Given the description of an element on the screen output the (x, y) to click on. 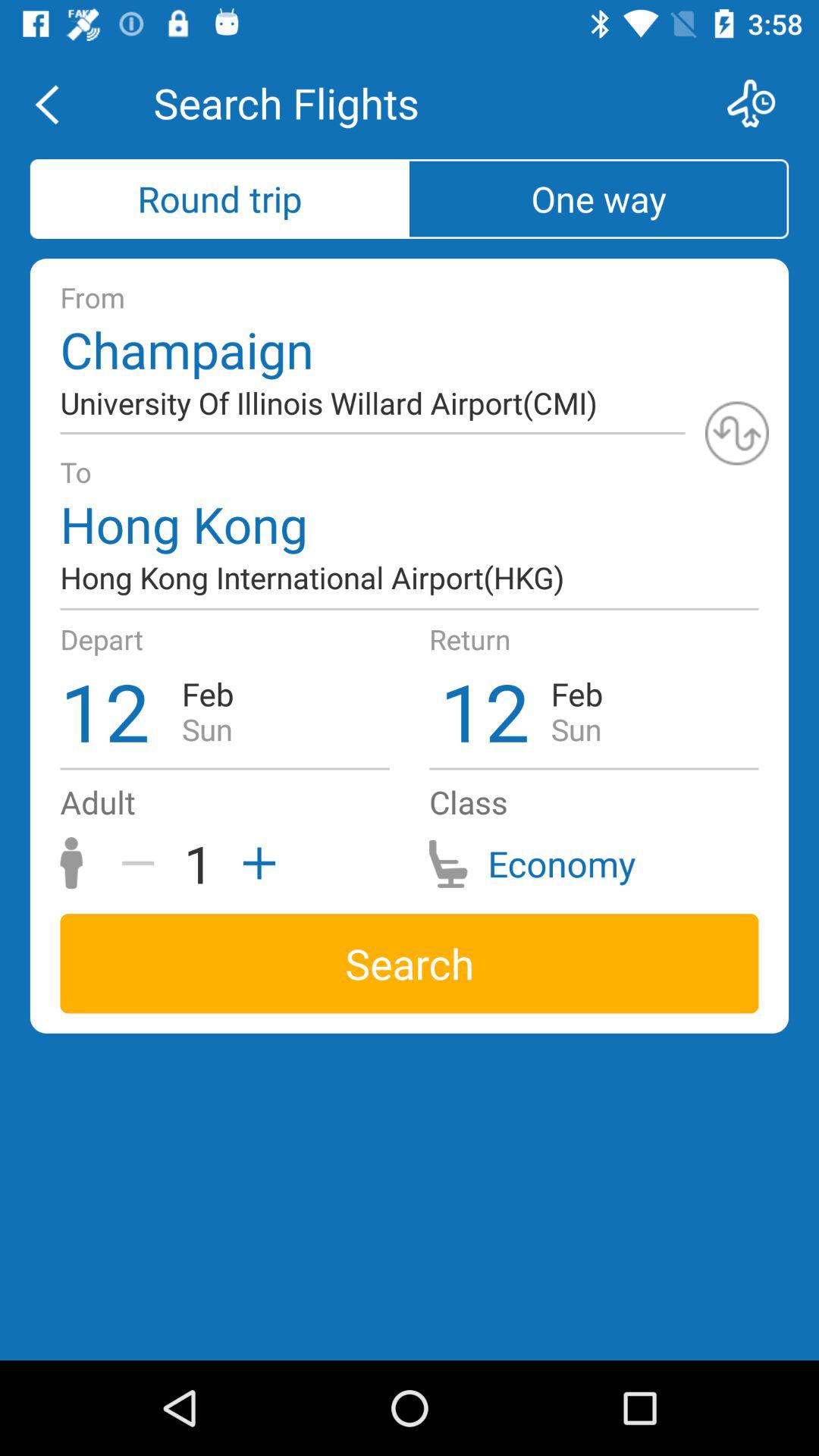
to check current itineraries (761, 102)
